Given the description of an element on the screen output the (x, y) to click on. 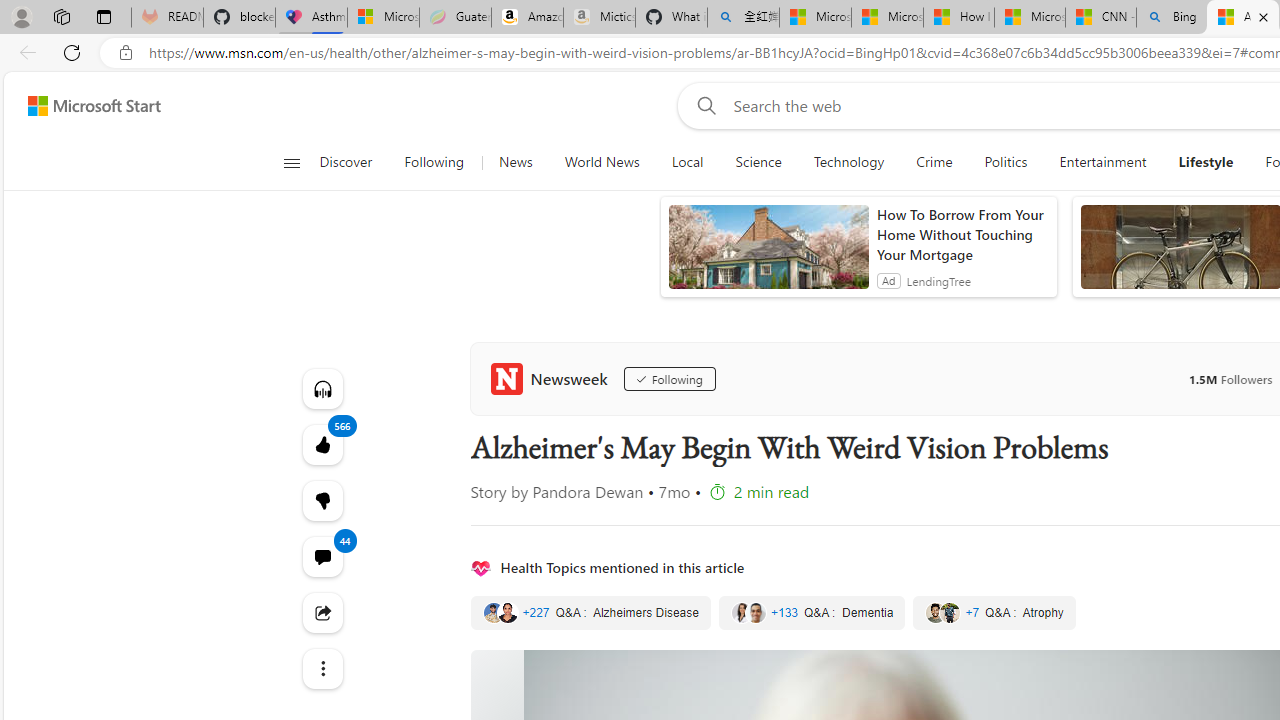
View site information (125, 53)
Alzheimers Disease (589, 613)
Skip to content (86, 105)
Crime (934, 162)
Close tab (1263, 16)
Microsoft Start (94, 105)
How I Got Rid of Microsoft Edge's Unnecessary Features (959, 17)
566 Like (322, 444)
Listen to this article (322, 388)
Asthma Inhalers: Names and Types (311, 17)
Workspaces (61, 16)
Technology (849, 162)
Tab actions menu (104, 16)
